Given the description of an element on the screen output the (x, y) to click on. 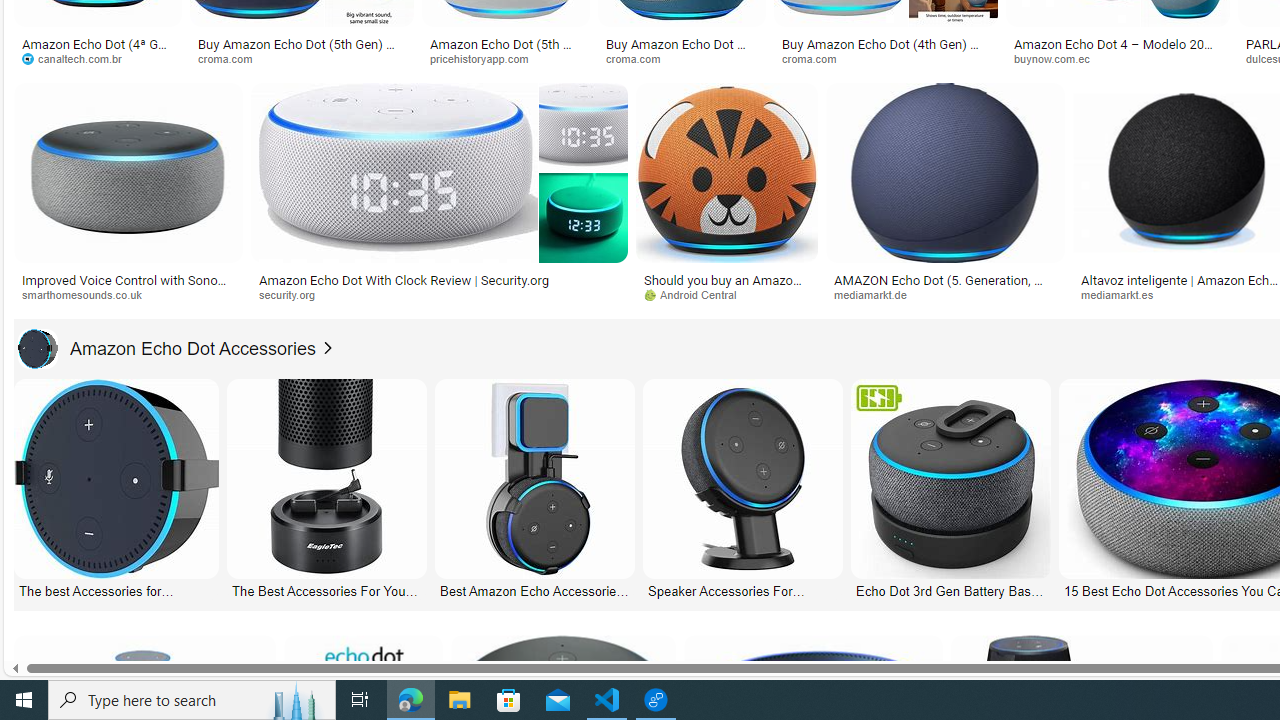
mediamarkt.de (945, 295)
buynow.com.ec (1058, 57)
Best Amazon Echo Accessories - Tech Advisor (534, 589)
